Given the description of an element on the screen output the (x, y) to click on. 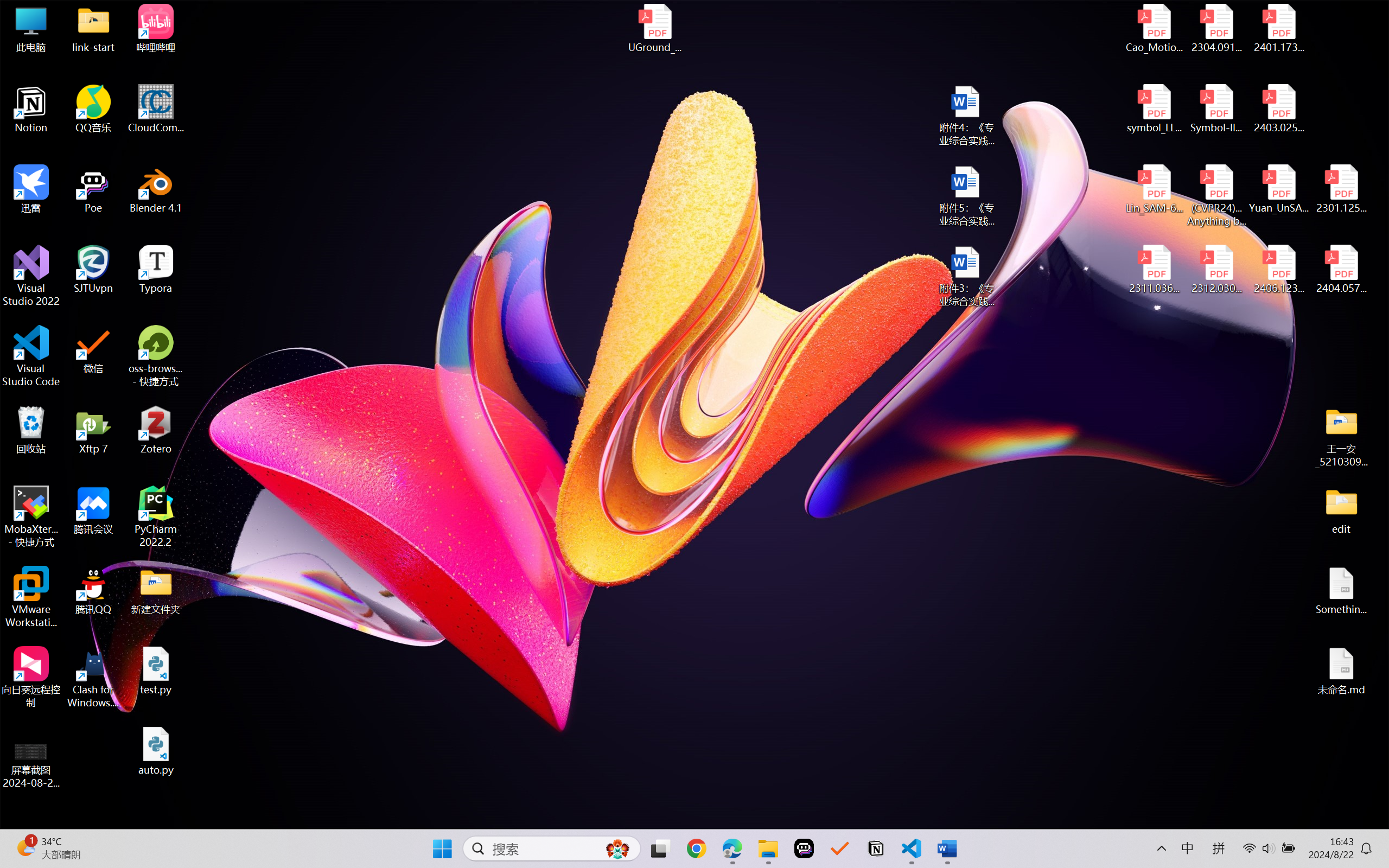
SJTUvpn (93, 269)
2401.17399v1.pdf (1278, 28)
2304.09121v3.pdf (1216, 28)
symbol_LLM.pdf (1154, 109)
(CVPR24)Matching Anything by Segmenting Anything.pdf (1216, 195)
VMware Workstation Pro (31, 597)
